Given the description of an element on the screen output the (x, y) to click on. 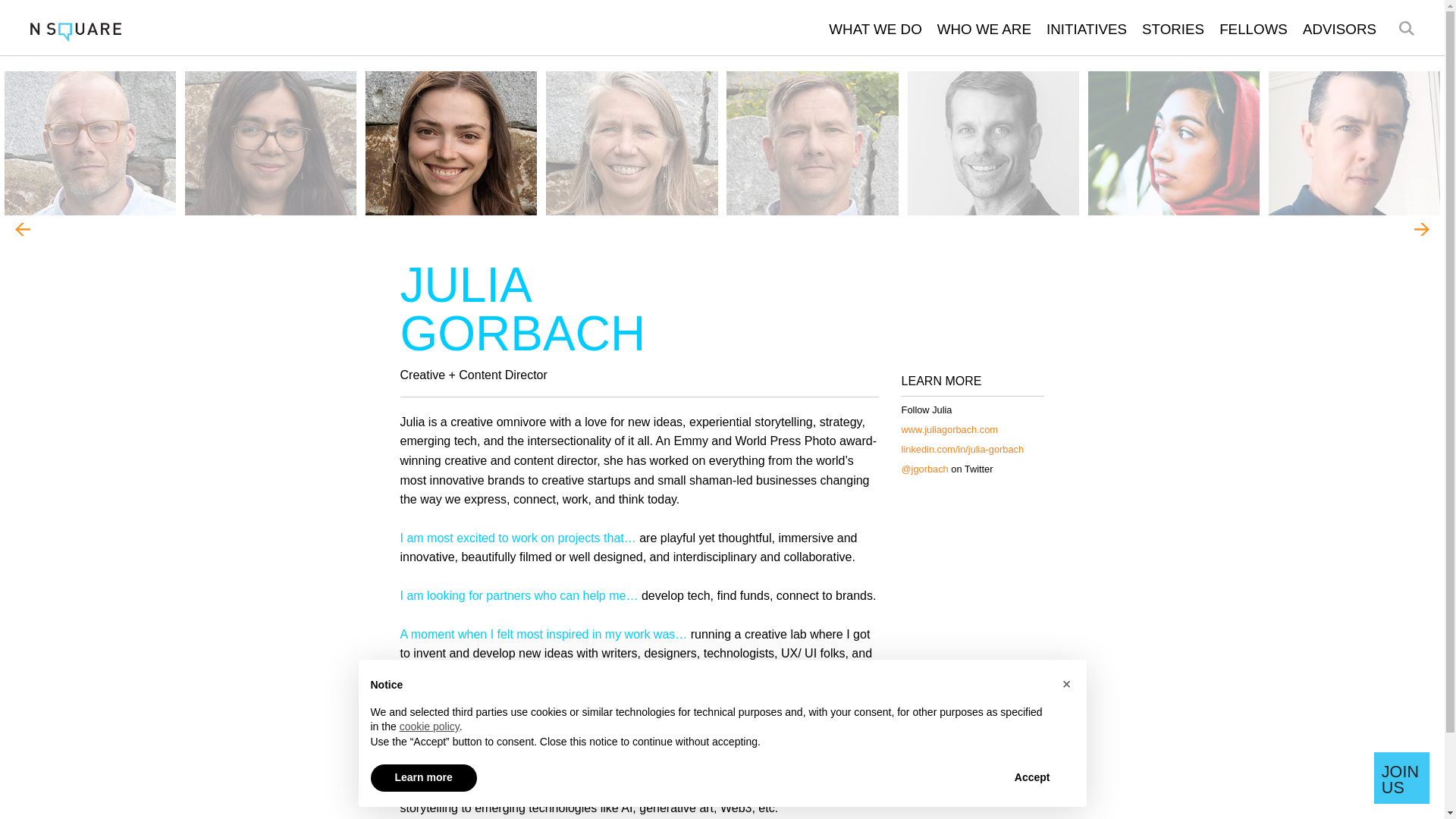
STORIES (1172, 28)
INITIATIVES (1086, 28)
WHO WE ARE (983, 28)
WHAT WE DO (874, 28)
ADVISORS (1339, 28)
FELLOWS (1253, 28)
